Given the description of an element on the screen output the (x, y) to click on. 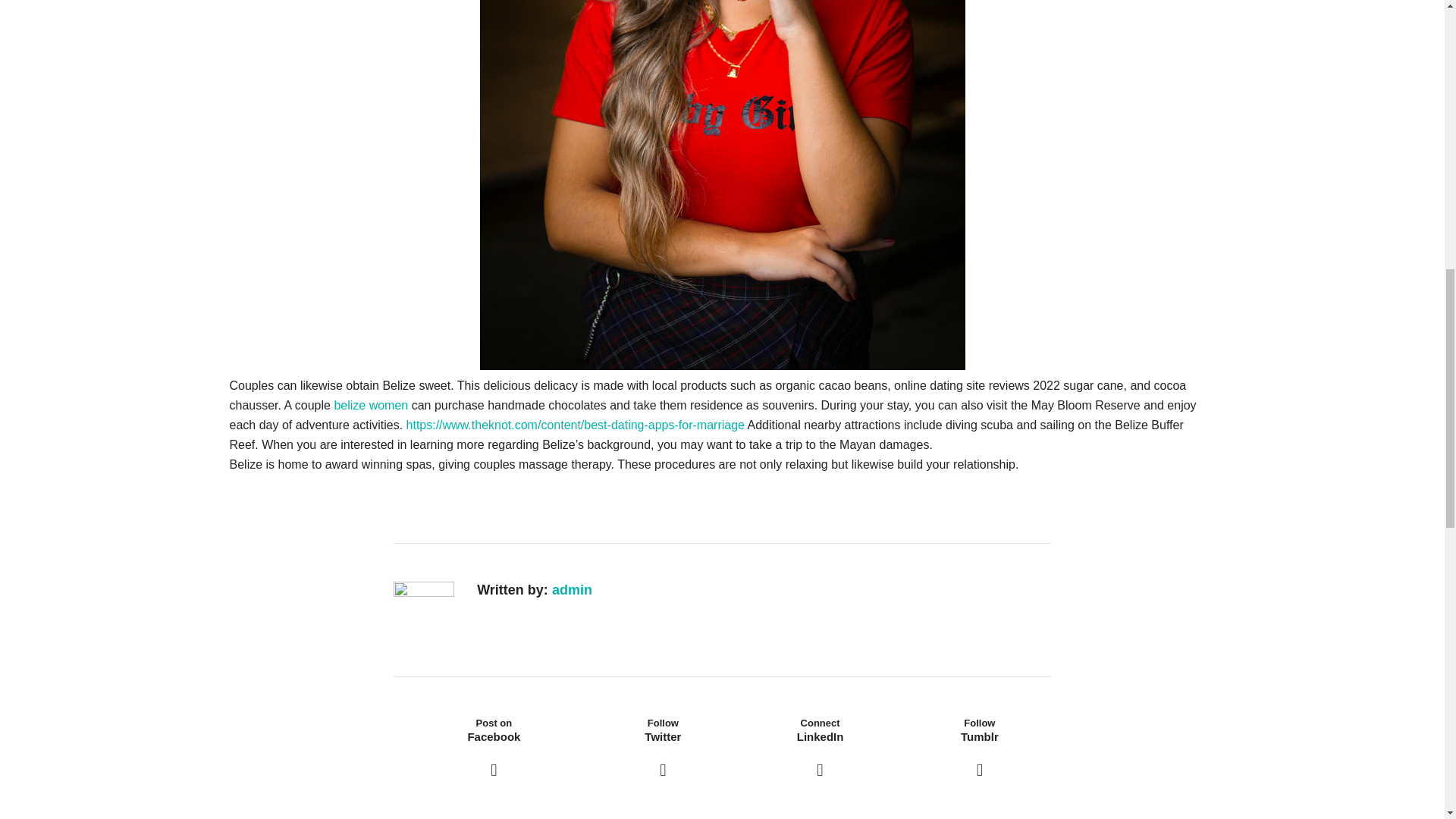
belize women (370, 404)
